Given the description of an element on the screen output the (x, y) to click on. 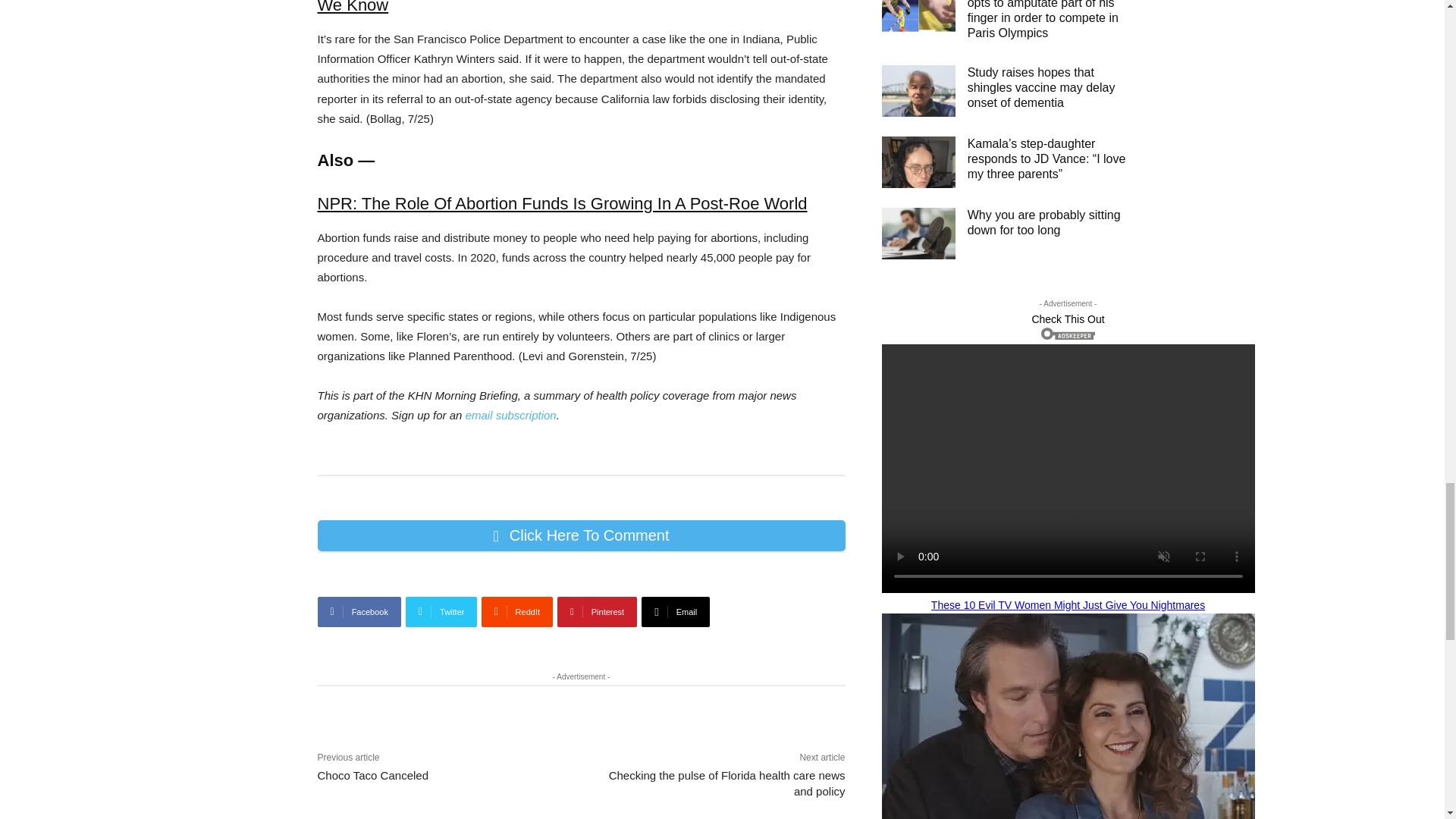
Twitter (441, 612)
Facebook (358, 612)
ReddIt (517, 612)
Pinterest (597, 612)
Email (676, 612)
Click Here To Comment (580, 535)
